Given the description of an element on the screen output the (x, y) to click on. 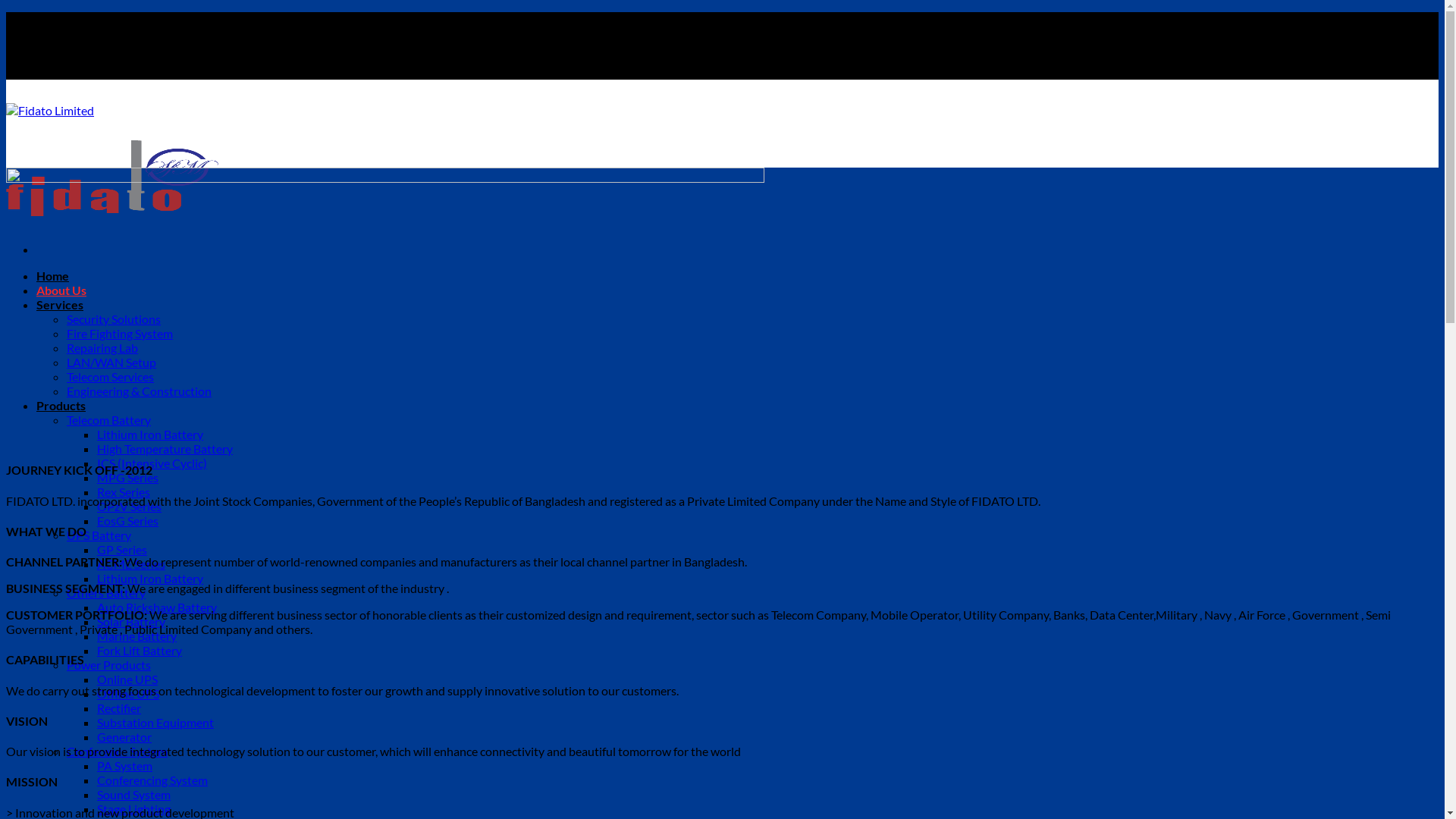
LAN/WAN Setup Element type: text (111, 361)
Repairing Lab Element type: text (102, 347)
High Temperature Battery Element type: text (164, 448)
Rectifier Element type: text (119, 707)
GP Series Element type: text (122, 549)
Substation Equipment Element type: text (155, 722)
Security Solutions Element type: text (113, 318)
Lithium Iron Battery Element type: text (150, 433)
Skip to content Element type: text (5, 11)
Fork Lift Battery Element type: text (139, 650)
Generator Element type: text (124, 736)
Telecom Services Element type: text (109, 376)
EosG Series Element type: text (127, 520)
Stage Lighting Element type: text (133, 808)
Lithium Iron Battery Element type: text (150, 578)
Marine Battery Element type: text (136, 635)
Home Element type: text (52, 275)
Telecom Battery Element type: text (108, 419)
Solar Battery Element type: text (131, 621)
Conferencing System Element type: text (152, 779)
Fire Fighting System Element type: text (119, 333)
About Us Element type: text (61, 289)
Fidato Limited Element type: hover (112, 166)
Power Products Element type: text (108, 664)
Sound System Element type: text (133, 794)
PA System Element type: text (124, 765)
Services Element type: text (59, 304)
Products Element type: text (60, 405)
OPzV Series Element type: text (129, 505)
Offline UPS Element type: text (128, 693)
Others Battery Element type: text (105, 592)
Auto Rickshaw Battery Element type: text (156, 606)
ACME Series Element type: text (131, 563)
Rex Series Element type: text (123, 491)
Engineering & Construction Element type: text (138, 390)
Conference System Element type: text (116, 750)
UPS Battery Element type: text (98, 534)
MPG Series Element type: text (127, 477)
Online UPS Element type: text (127, 678)
ICS (Intensive Cyclic) Element type: text (152, 462)
